Given the description of an element on the screen output the (x, y) to click on. 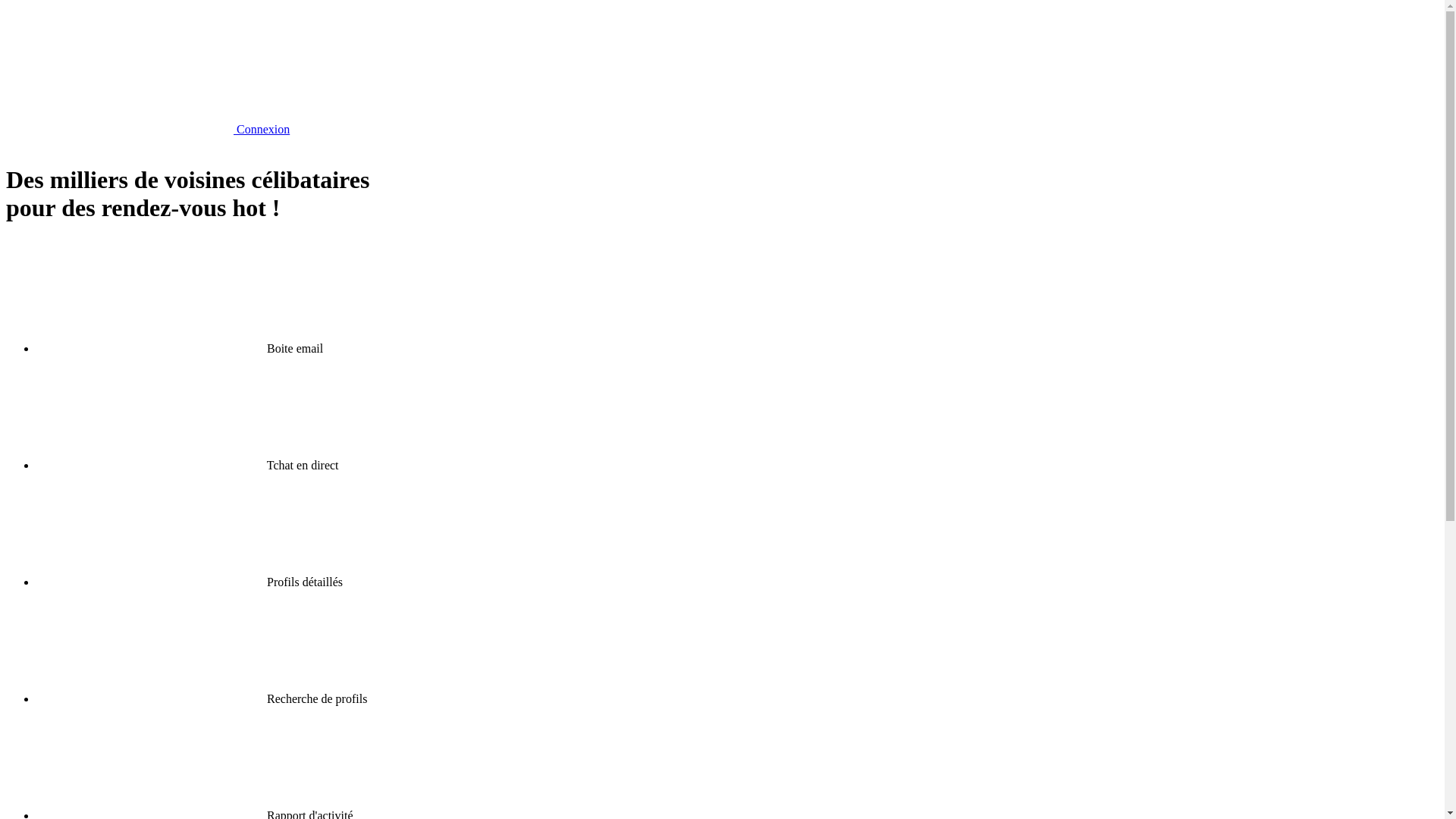
Connexion Element type: text (147, 128)
